Given the description of an element on the screen output the (x, y) to click on. 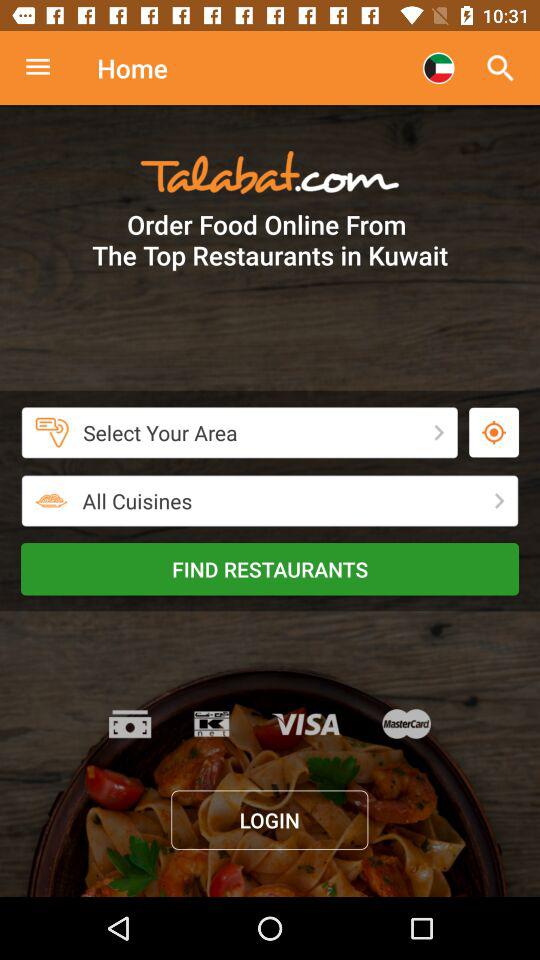
the button is used to select the area option (494, 432)
